Given the description of an element on the screen output the (x, y) to click on. 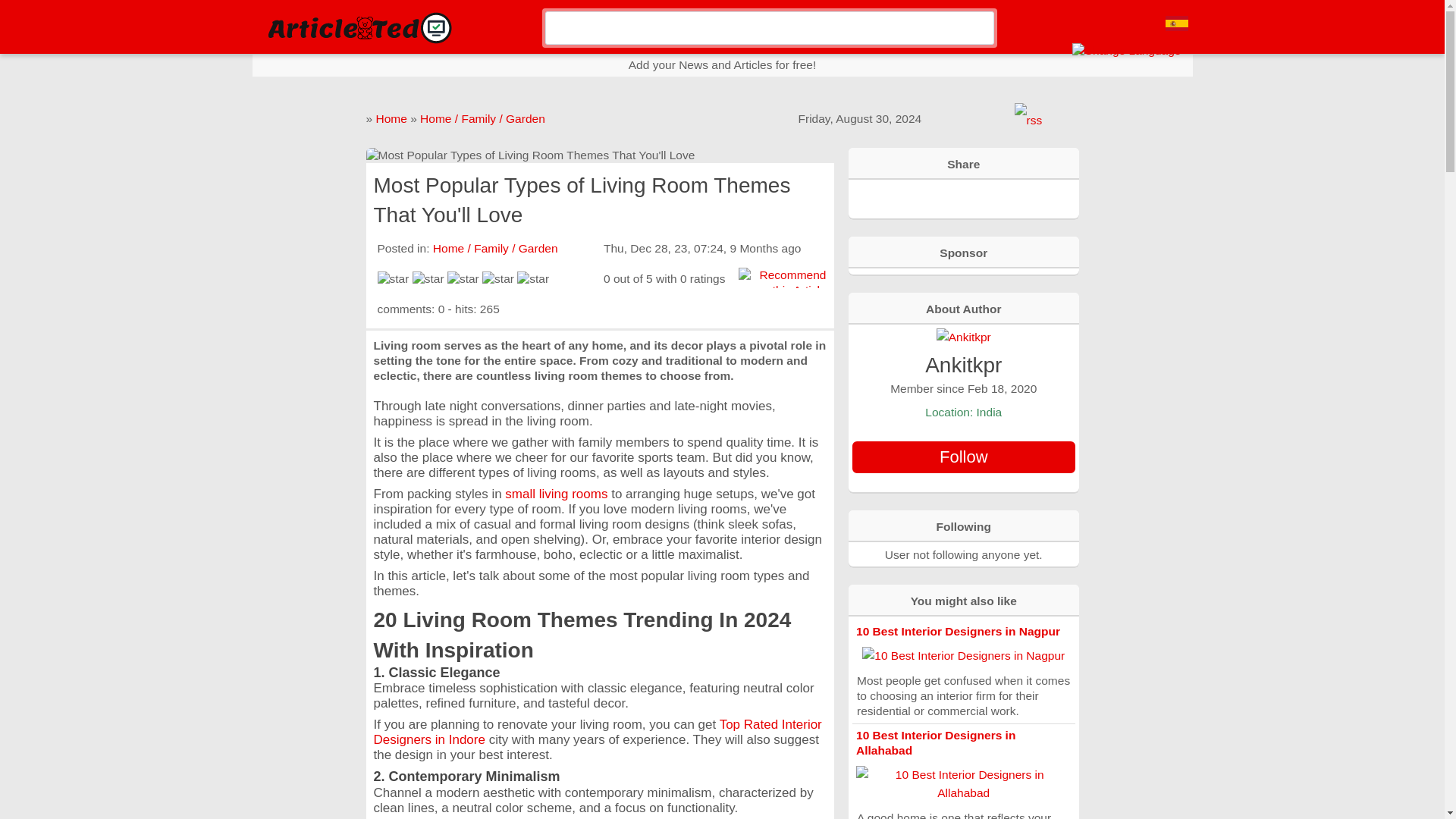
Change Language (1125, 50)
Share this page on facebook (895, 197)
Recommend this Article (781, 282)
Share this page on stumbleupon (977, 197)
Top Rated Interior Designers in Indore (596, 731)
Follow (963, 457)
Share this page on twitter (949, 197)
10 Best Interior Designers in Nagpur (957, 631)
small living rooms (556, 493)
Share this page on googleplus (922, 197)
